Given the description of an element on the screen output the (x, y) to click on. 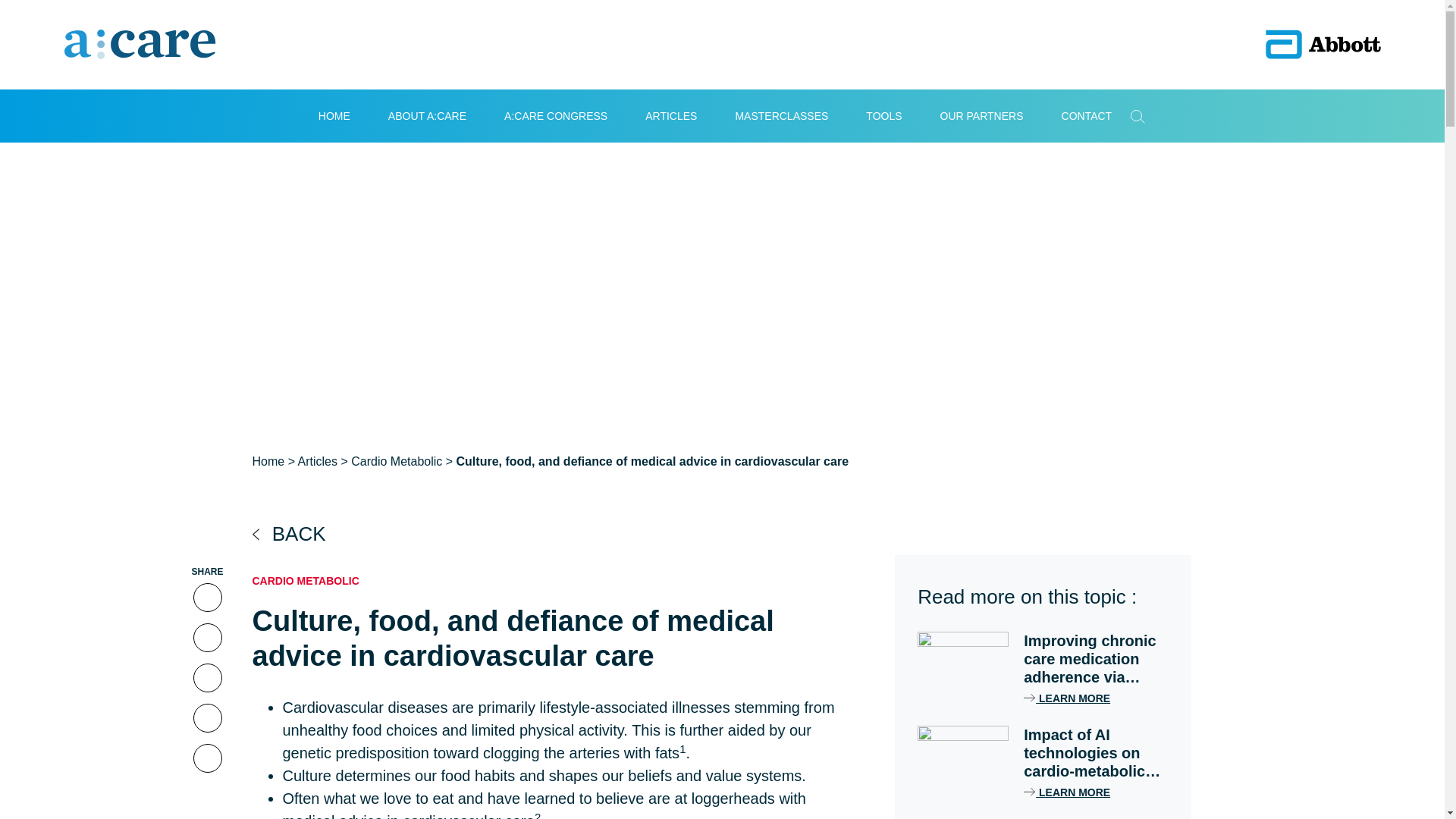
Cardio Metabolic (396, 461)
CONTACT (1086, 115)
A:CARE CONGRESS (555, 115)
Masterclasses (781, 115)
Articles (671, 115)
ABOUT A:CARE (426, 115)
Home (334, 115)
LEARN MORE (1066, 698)
Home (267, 461)
Articles (317, 461)
A:CARE CONGRESS (555, 115)
HOME (334, 115)
TOOLS (883, 115)
Tools (883, 115)
MASTERCLASSES (781, 115)
